Given the description of an element on the screen output the (x, y) to click on. 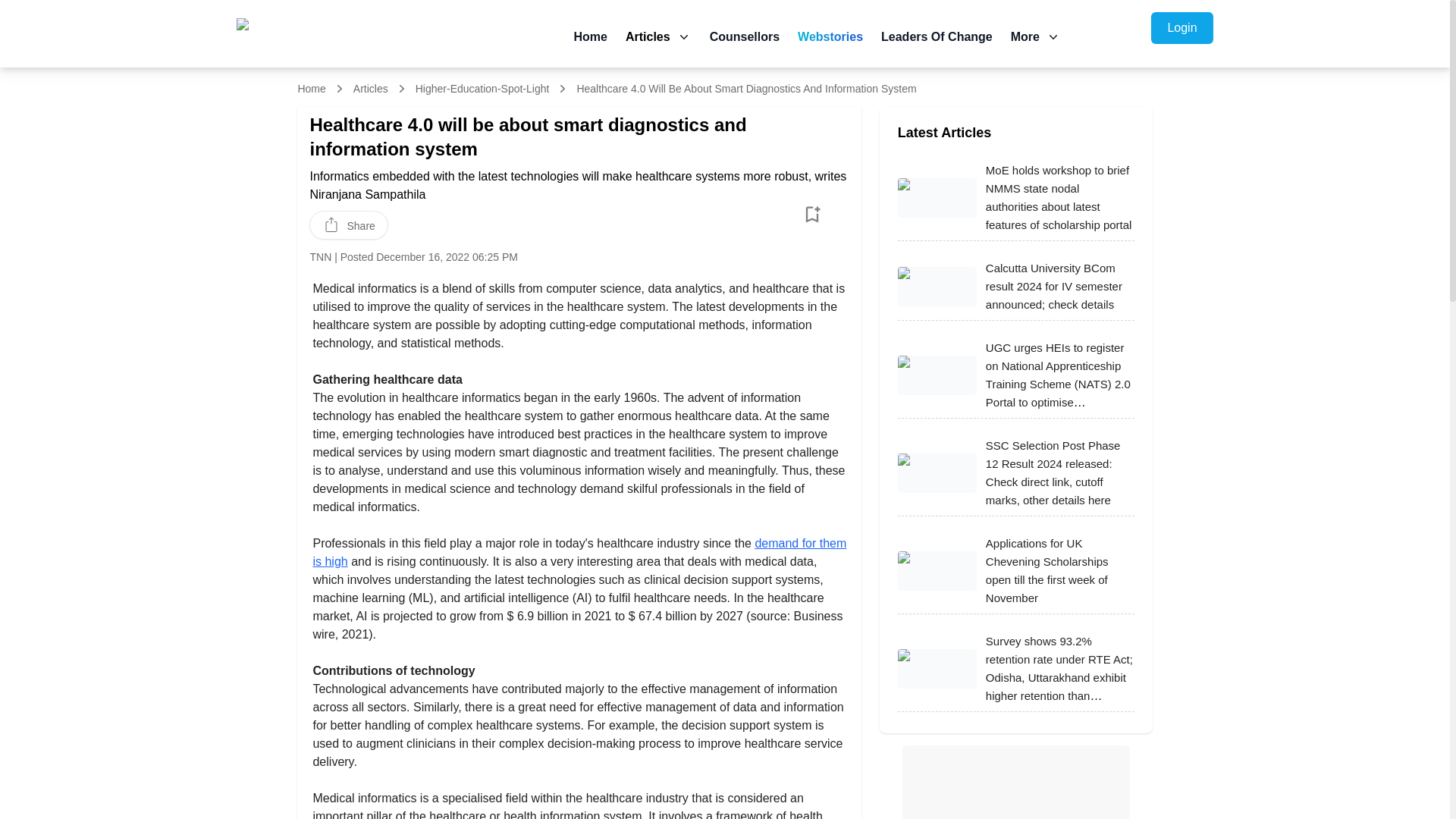
TNN (319, 256)
demand for them is high (579, 552)
Counsellors (744, 36)
Webstories (830, 36)
Your Company (349, 37)
More (1035, 36)
Leaders Of Change (936, 36)
